Given the description of an element on the screen output the (x, y) to click on. 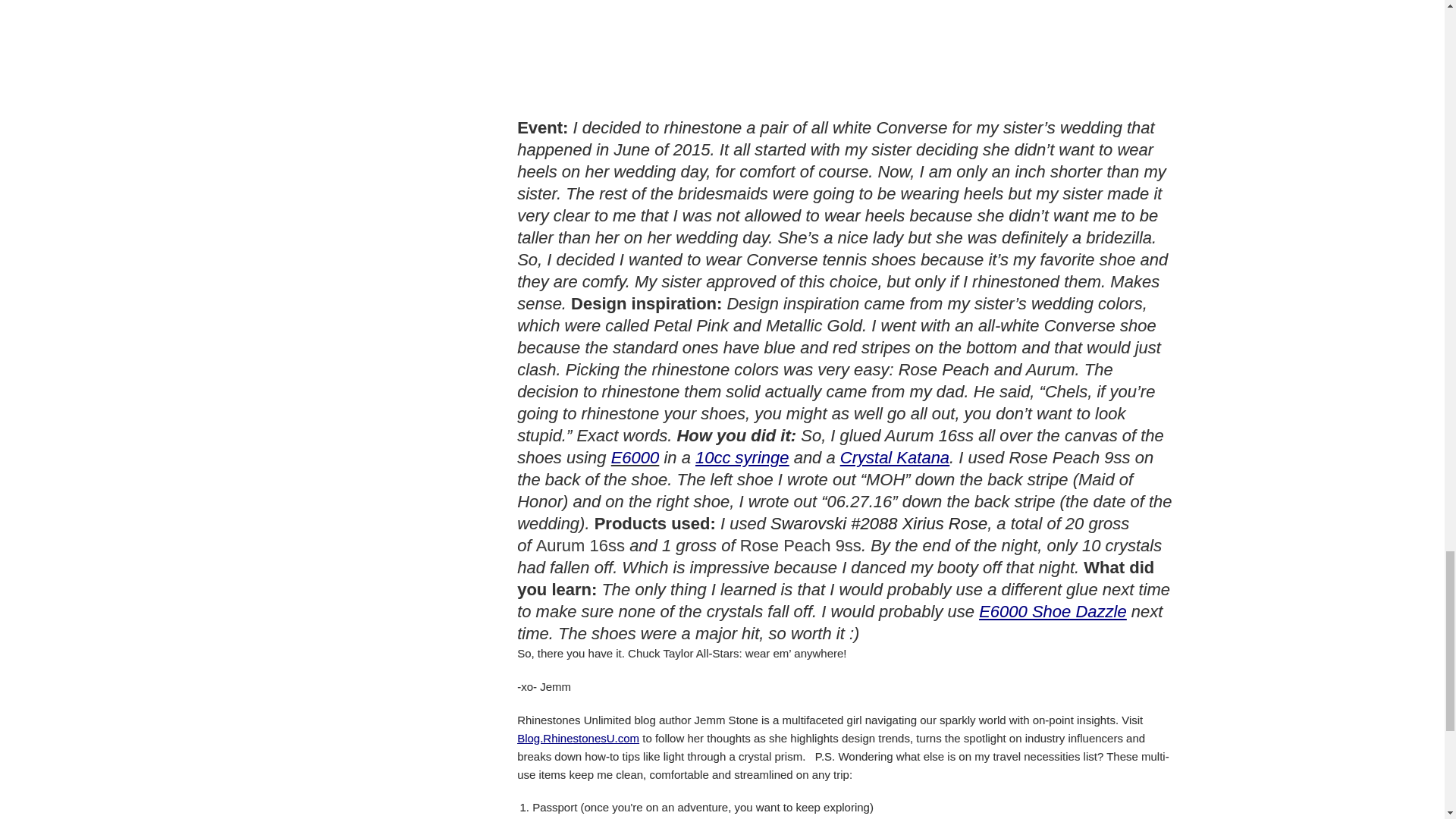
Syringes from Rhinestones Unlimited (742, 456)
Pickup Tools from Rhinestones Unlimited (894, 456)
10cc syringe (742, 456)
Glues from Rhinestones Unlimited (1051, 610)
Crystal Katana (894, 456)
